Given the description of an element on the screen output the (x, y) to click on. 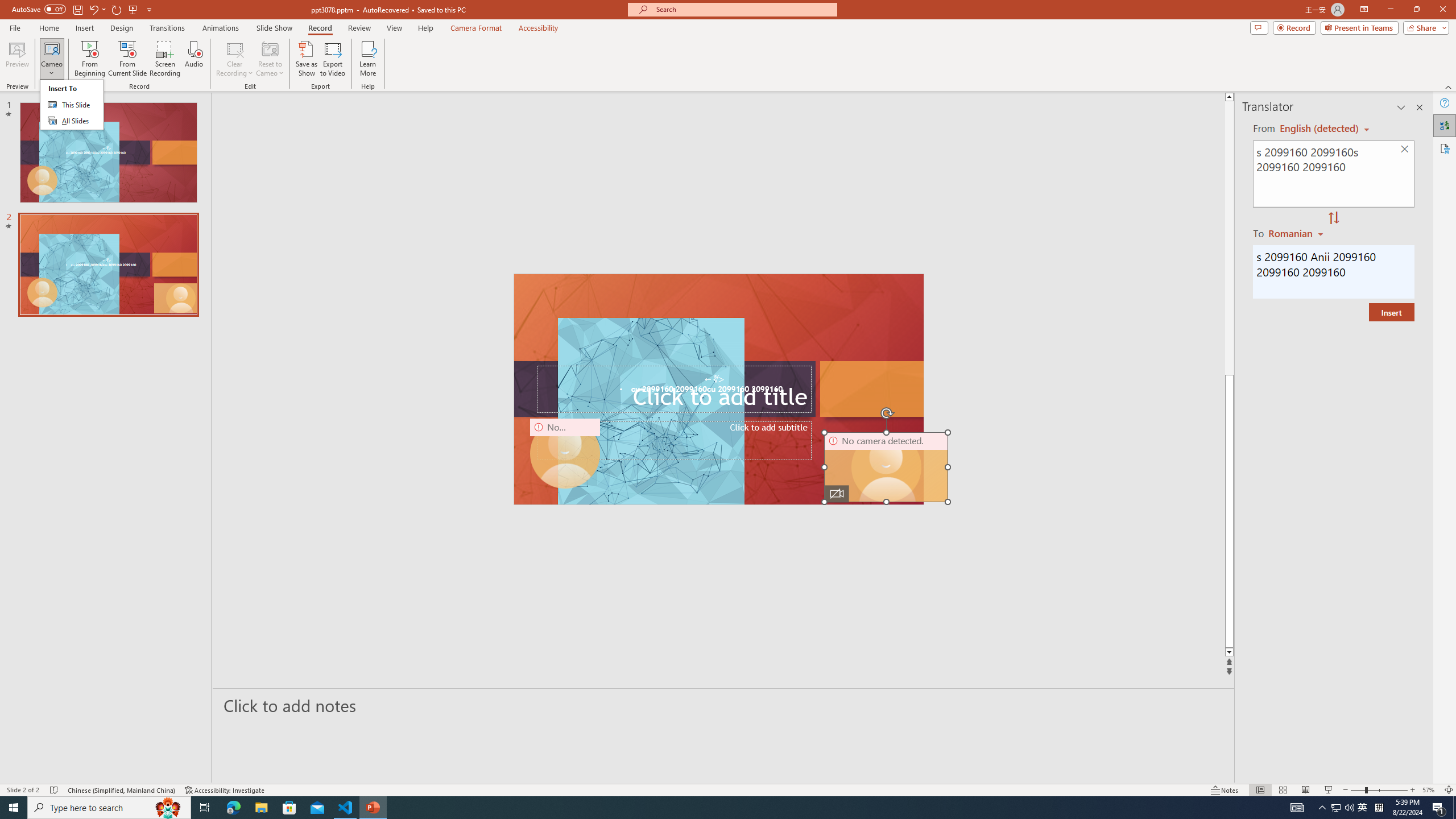
Camera Format (475, 28)
Action Center, 1 new notification (1439, 807)
Reset to Cameo (269, 58)
